Given the description of an element on the screen output the (x, y) to click on. 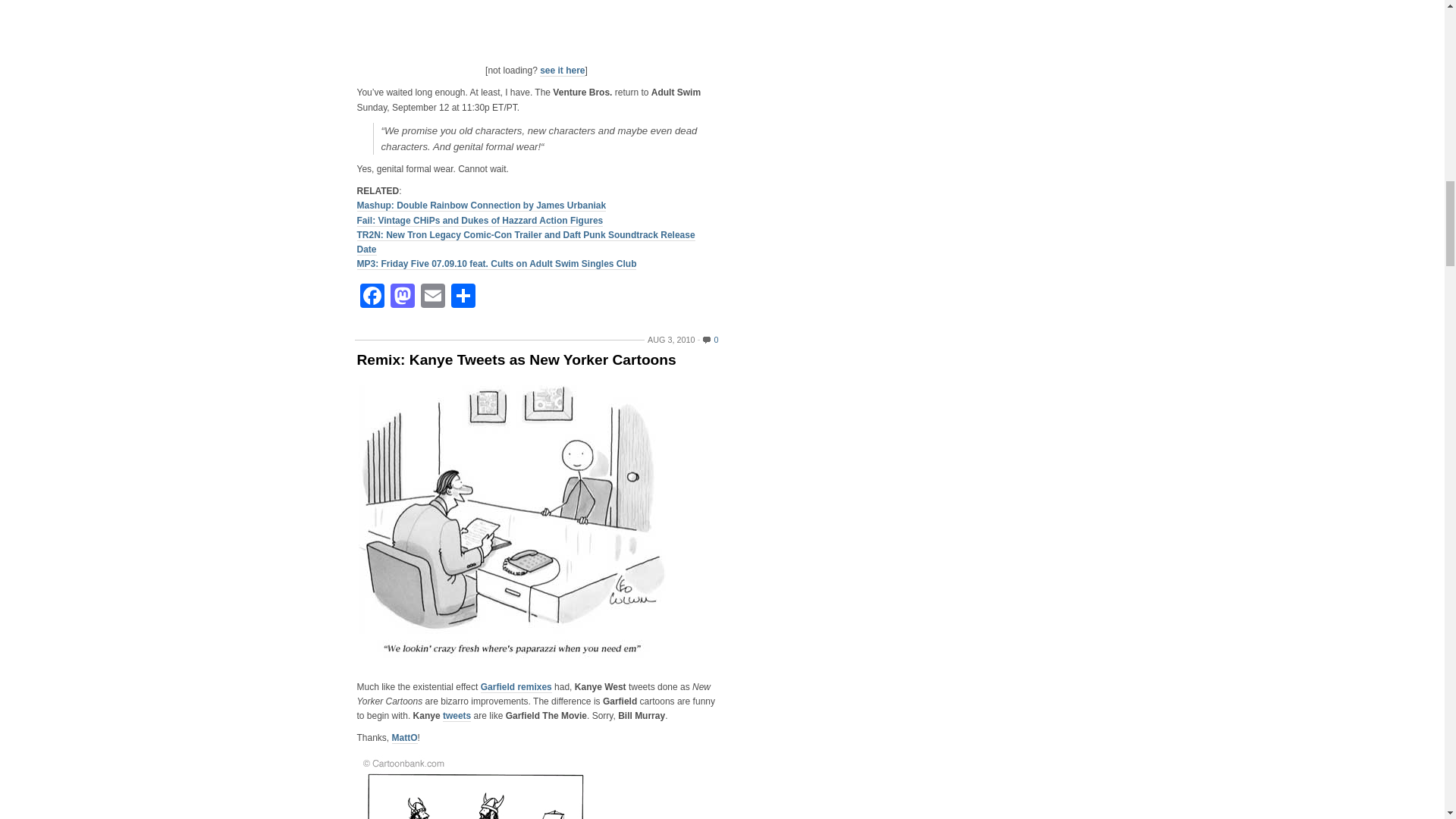
Mastodon (401, 297)
Facebook (371, 297)
Garfield remixes (515, 686)
Fail: Vintage CHiPs and Dukes of Hazzard Action Figures (479, 220)
Mashup: Double Rainbow Connection by James Urbaniak (480, 205)
see it here (562, 70)
Share (461, 297)
Email (431, 297)
Remix: Kanye Tweets as New Yorker Cartoons (536, 359)
